Given the description of an element on the screen output the (x, y) to click on. 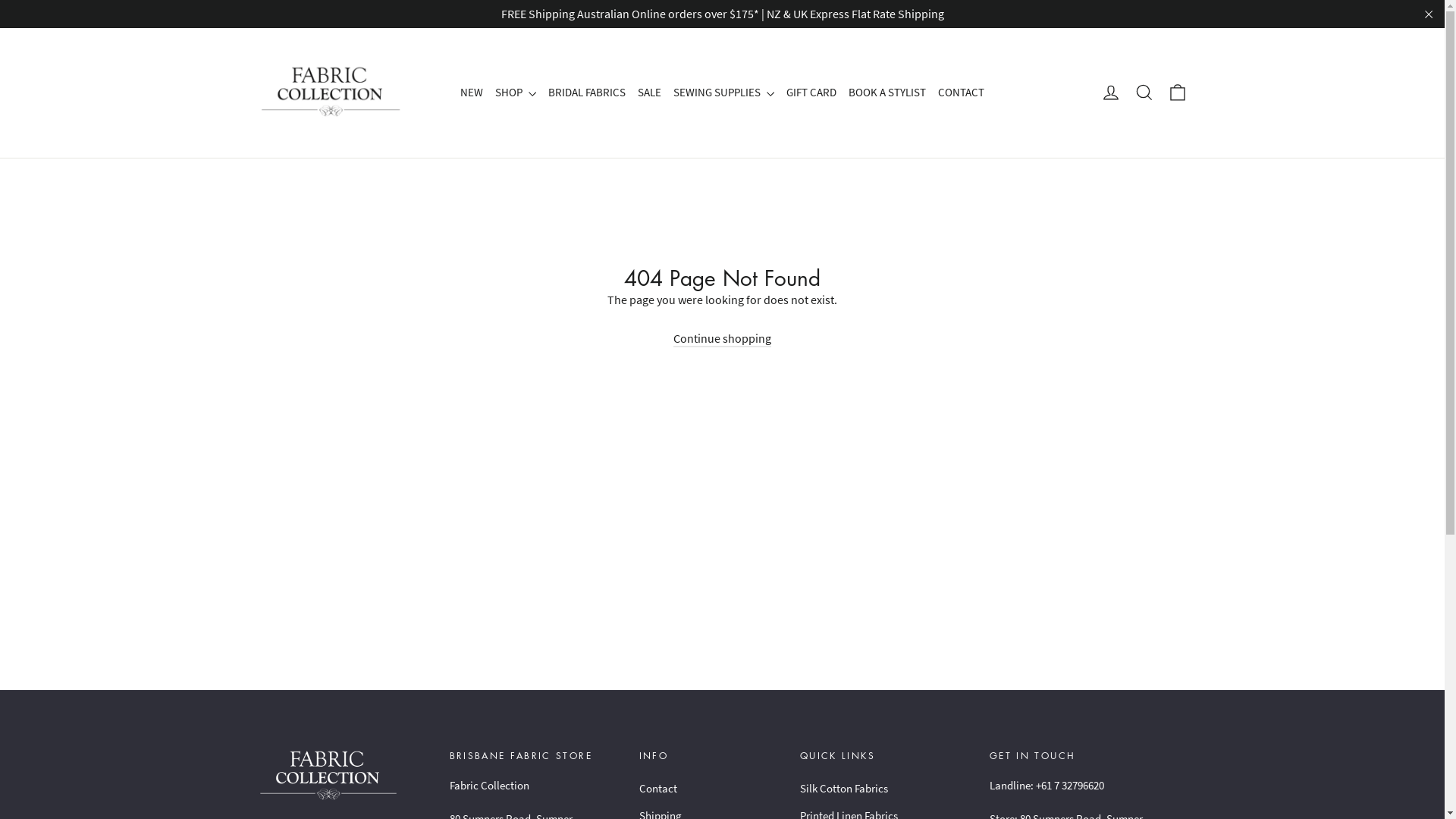
SALE Element type: text (649, 92)
Silk Cotton Fabrics Element type: text (883, 788)
BOOK A STYLIST Element type: text (886, 92)
CONTACT Element type: text (960, 92)
BRIDAL FABRICS Element type: text (586, 92)
Contact Element type: text (707, 788)
"Close" Element type: text (1428, 14)
Cart Element type: text (1176, 92)
Search Element type: text (1143, 92)
Log in Element type: text (1109, 92)
Continue shopping Element type: text (722, 338)
GIFT CARD Element type: text (811, 92)
NEW Element type: text (471, 92)
SEWING SUPPLIES Element type: text (723, 92)
SHOP Element type: text (515, 92)
